Given the description of an element on the screen output the (x, y) to click on. 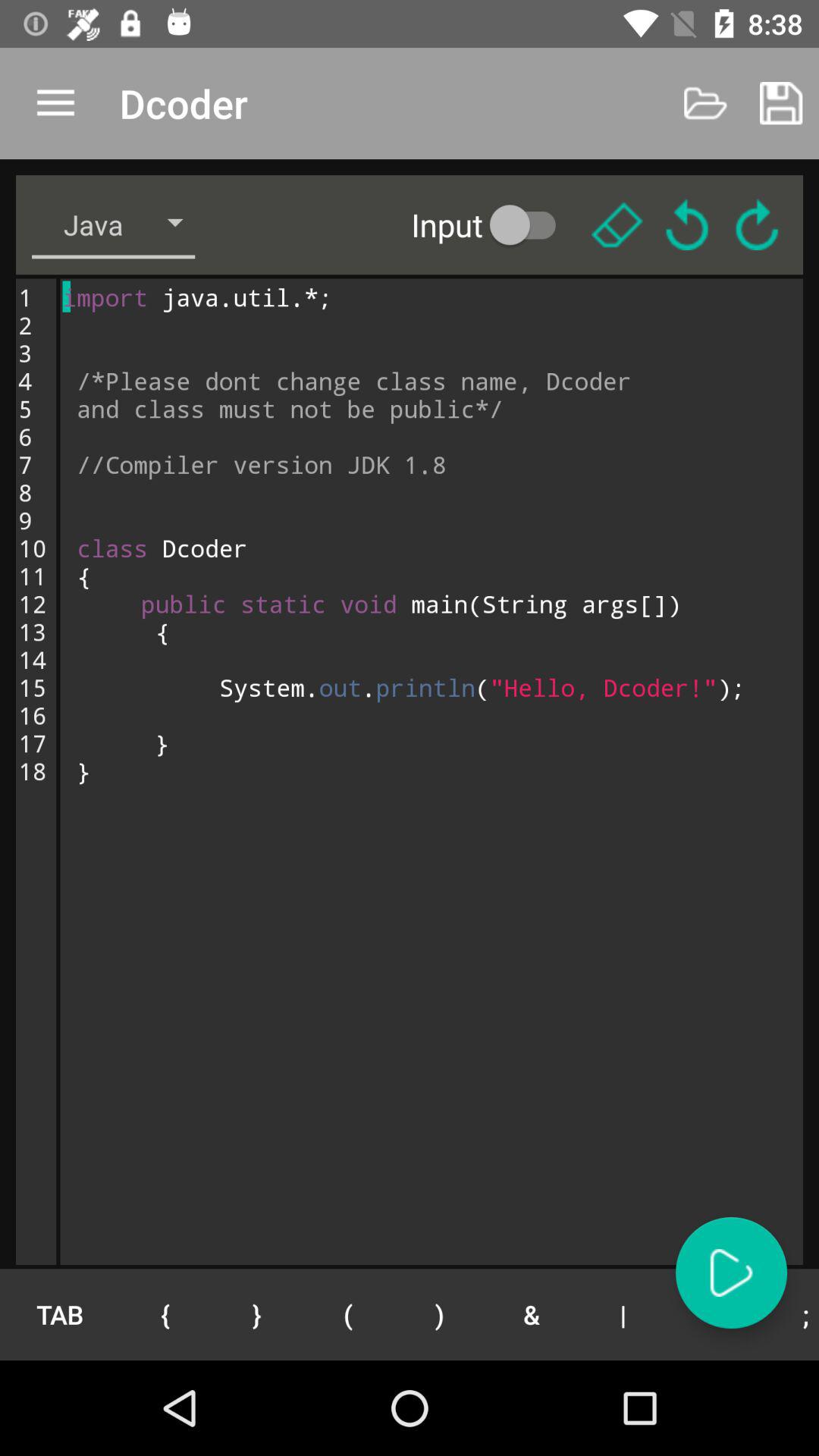
undo (686, 224)
